Given the description of an element on the screen output the (x, y) to click on. 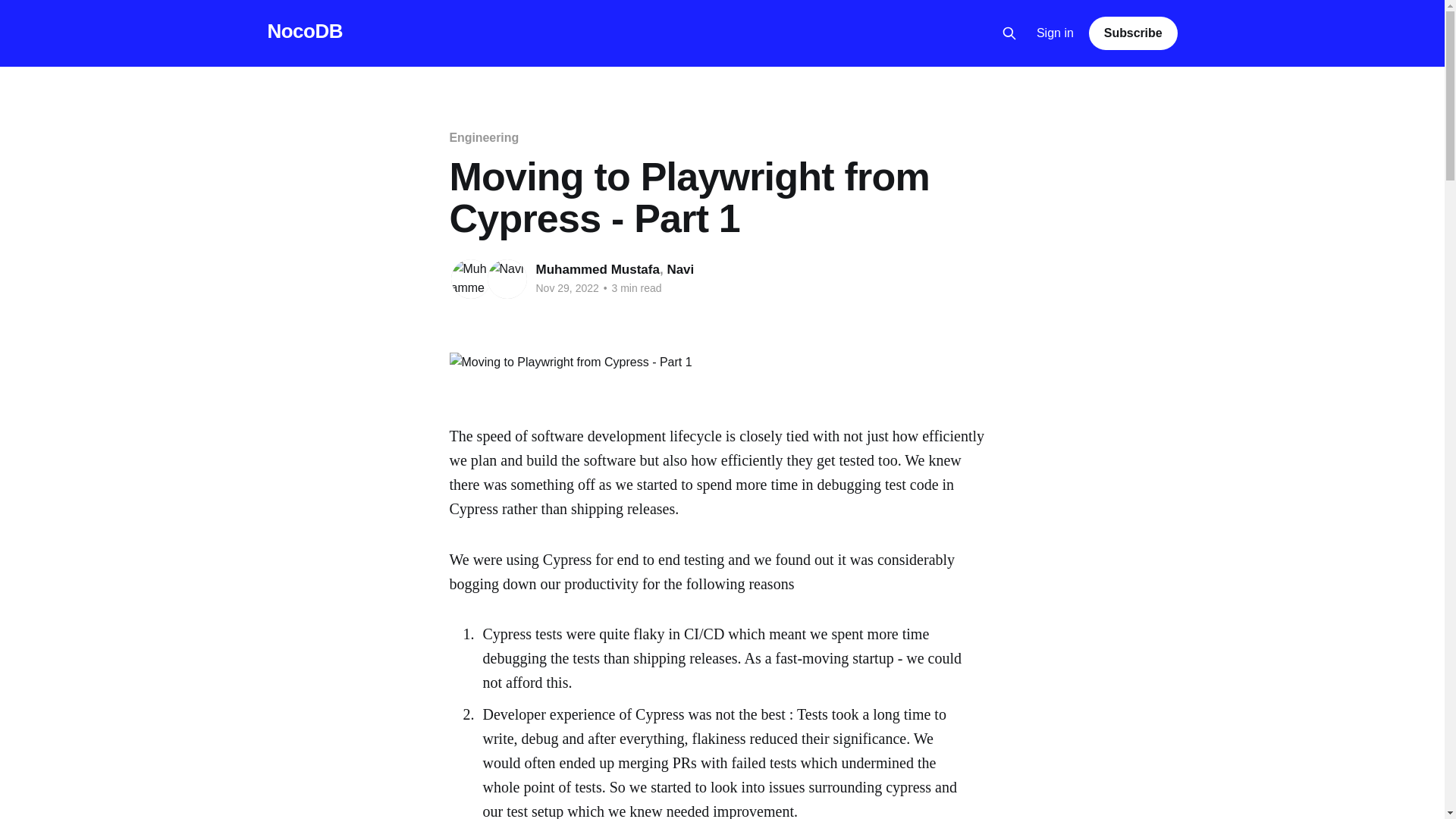
Engineering (483, 137)
Subscribe (1133, 32)
Navi (680, 269)
Muhammed Mustafa (597, 269)
Sign in (1055, 33)
NocoDB (304, 31)
